Given the description of an element on the screen output the (x, y) to click on. 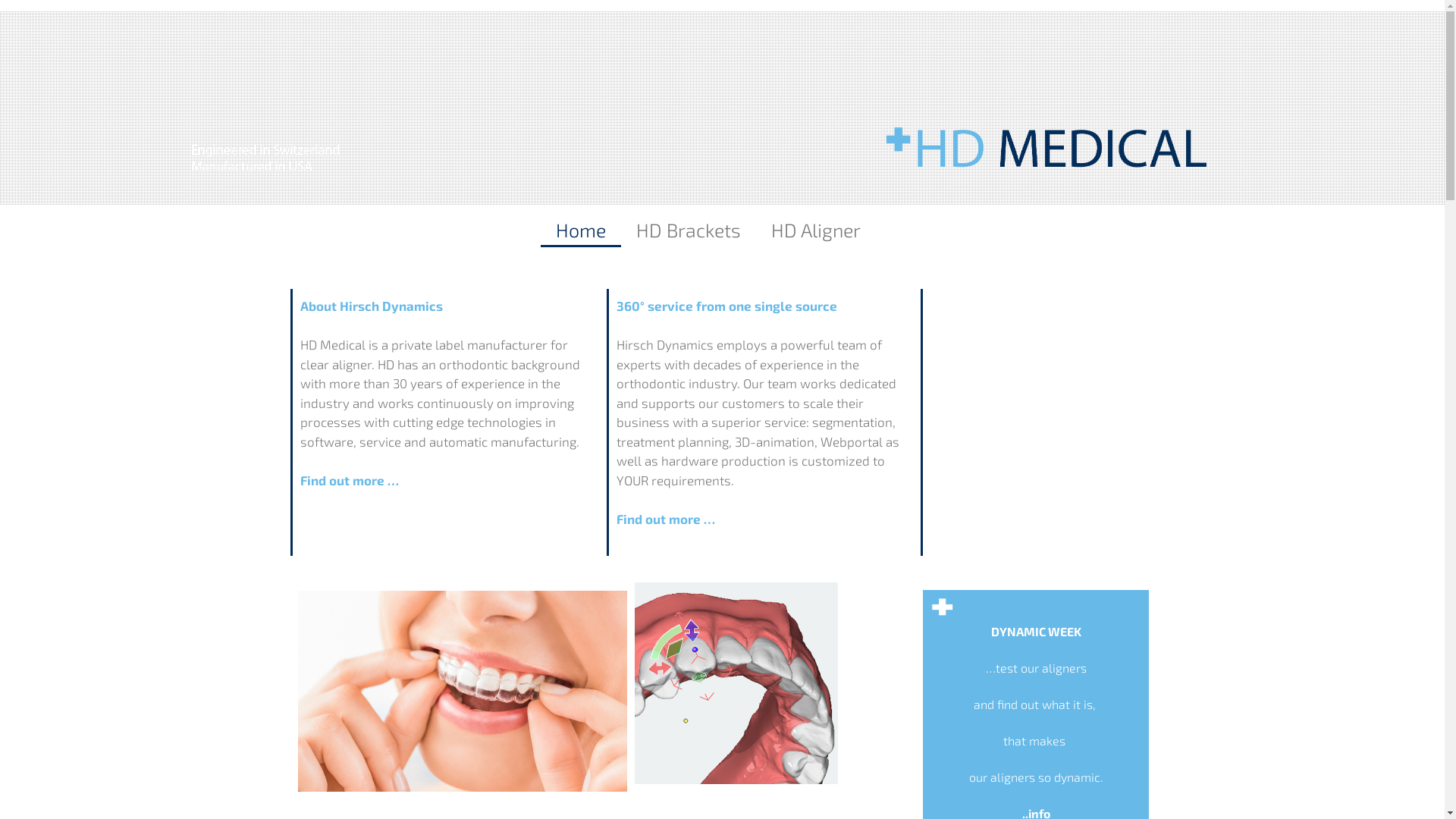
HD Aligner Element type: text (815, 229)
HD Brackets Element type: text (687, 229)
Home Element type: text (579, 229)
